Given the description of an element on the screen output the (x, y) to click on. 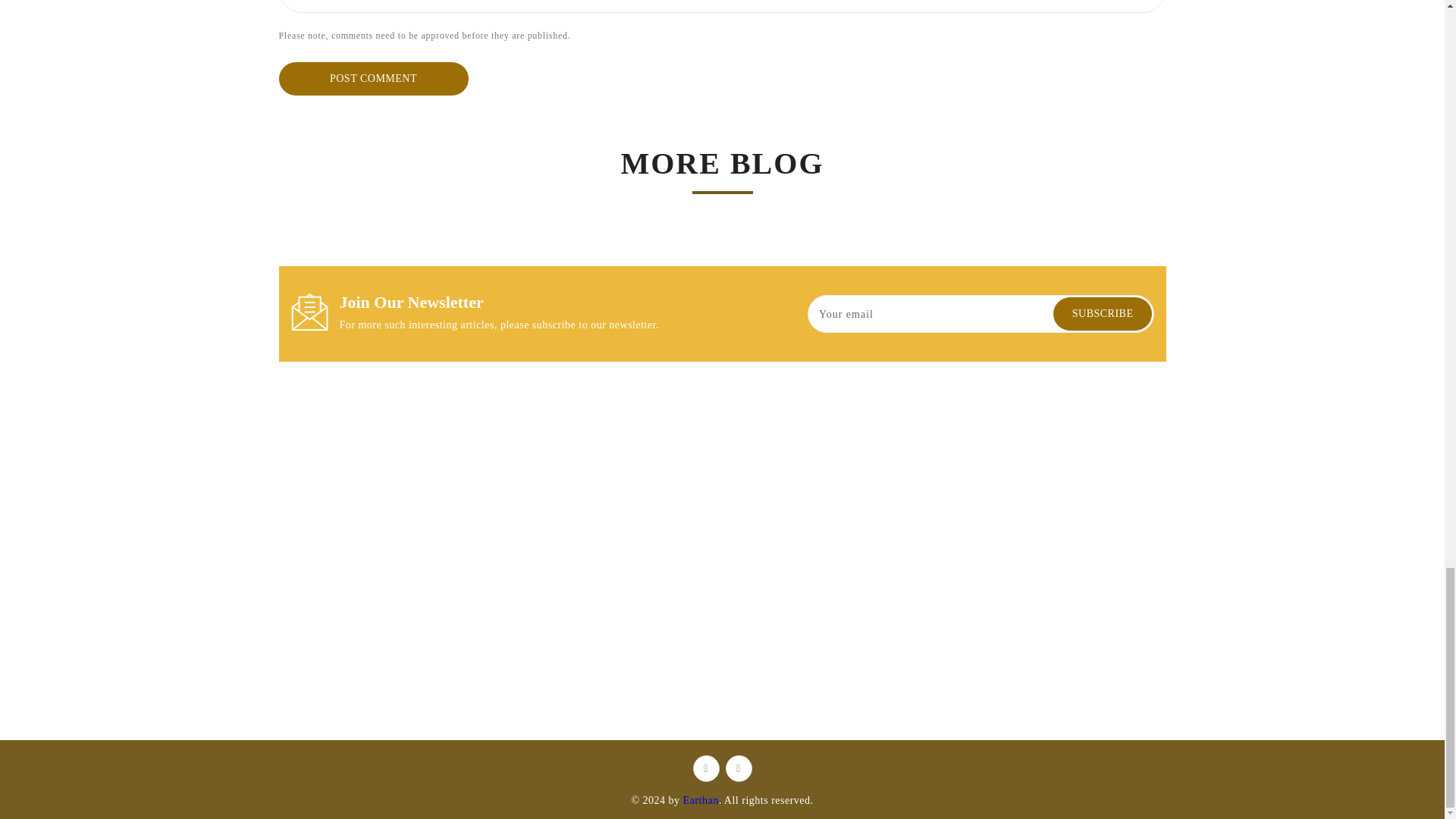
Post comment (373, 78)
earthan.in on Facebook (706, 768)
earthan.in on Instagram (738, 768)
